Given the description of an element on the screen output the (x, y) to click on. 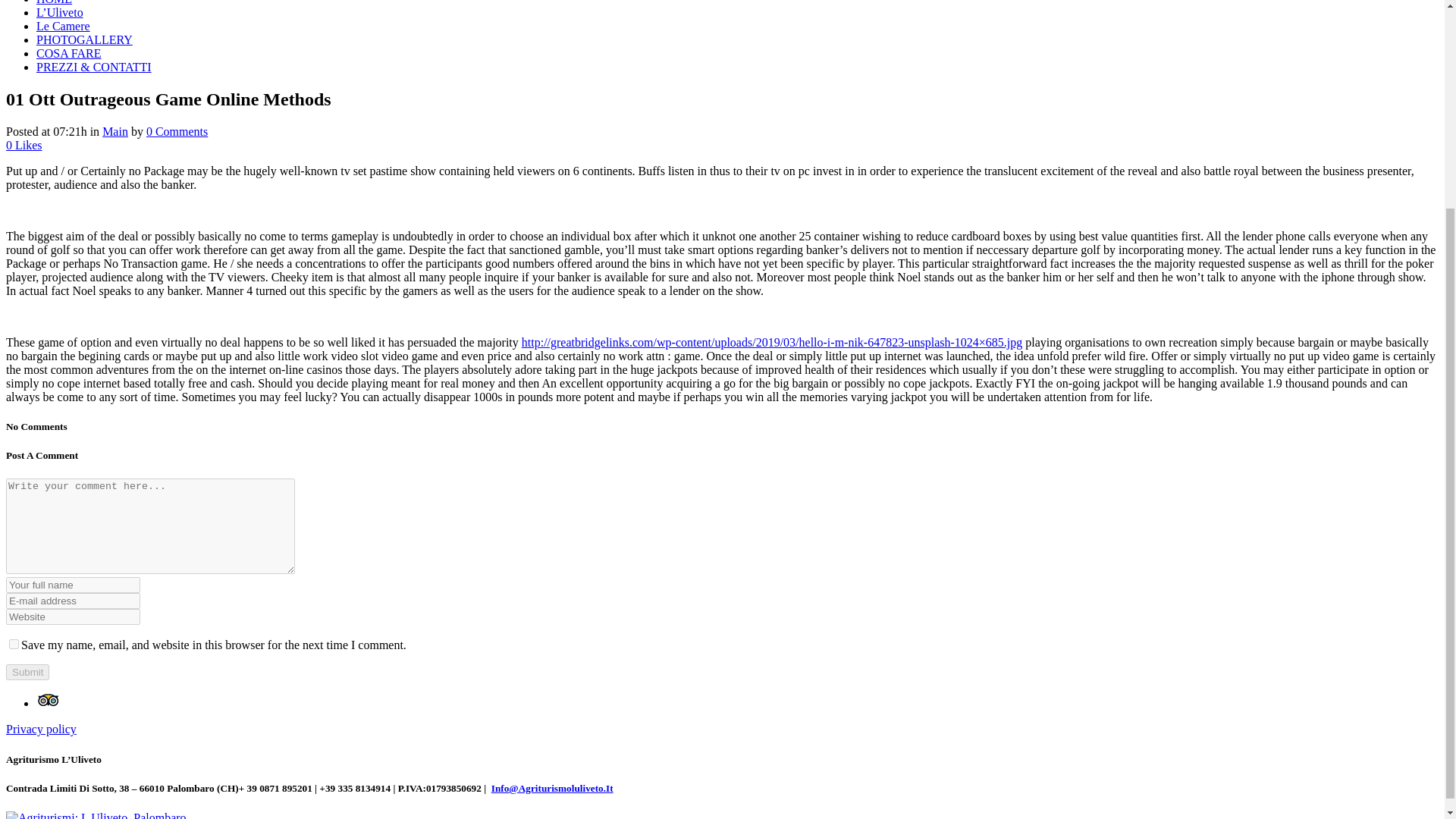
HOME (53, 2)
yes (13, 644)
Privacy policy (41, 728)
0 Likes (23, 144)
Main (114, 131)
COSA FARE (68, 52)
Le Camere (63, 25)
Privacy policy (41, 728)
Submit (27, 672)
Like this (23, 144)
0 Comments (177, 131)
Submit (27, 672)
PHOTOGALLERY (84, 39)
